Given the description of an element on the screen output the (x, y) to click on. 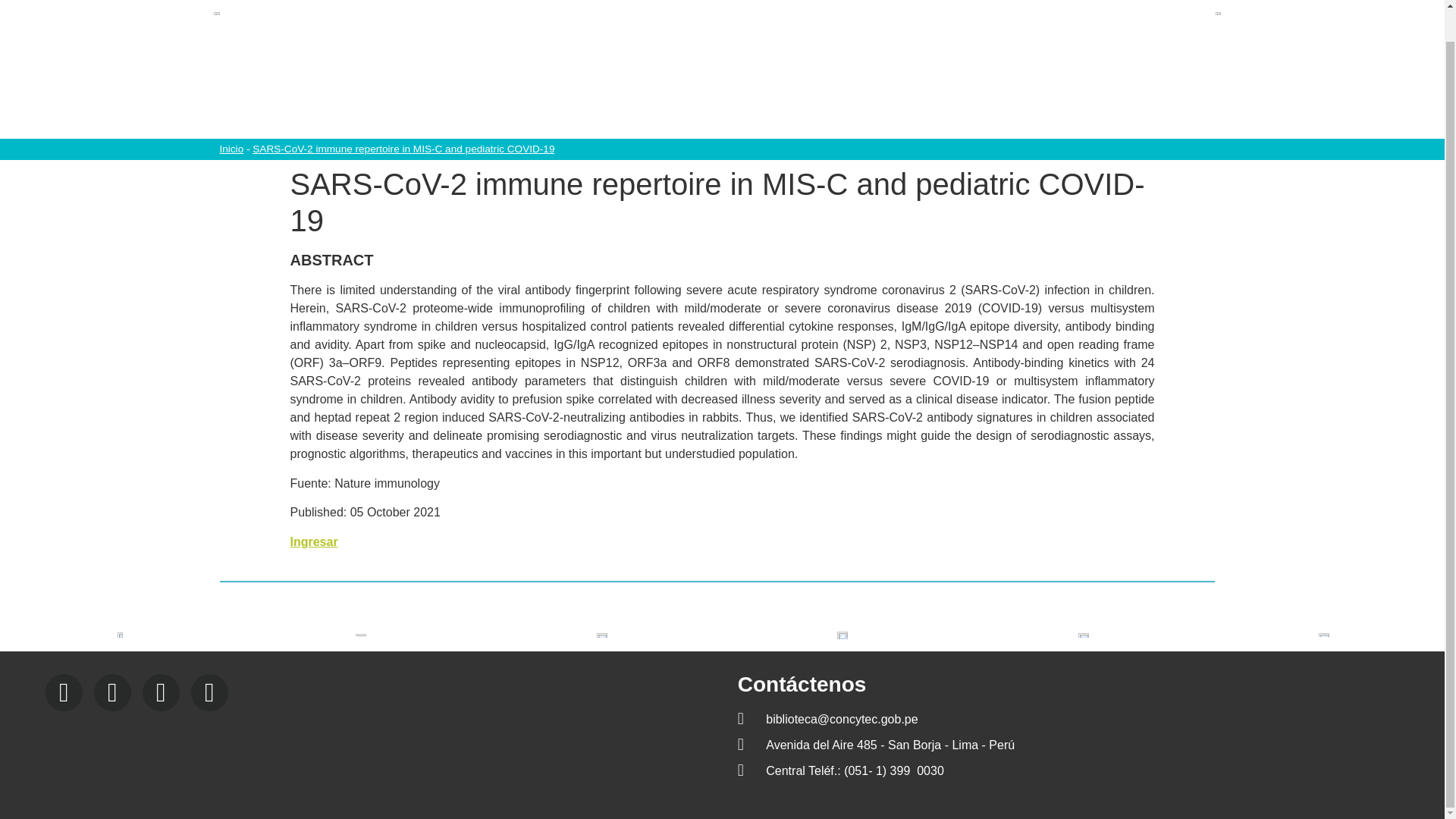
Acerca de (531, 98)
Colecciones (627, 98)
Inicio (456, 98)
Inicio (231, 148)
Revistas (977, 98)
Ingresar (313, 541)
Capacitaciones (737, 98)
